Given the description of an element on the screen output the (x, y) to click on. 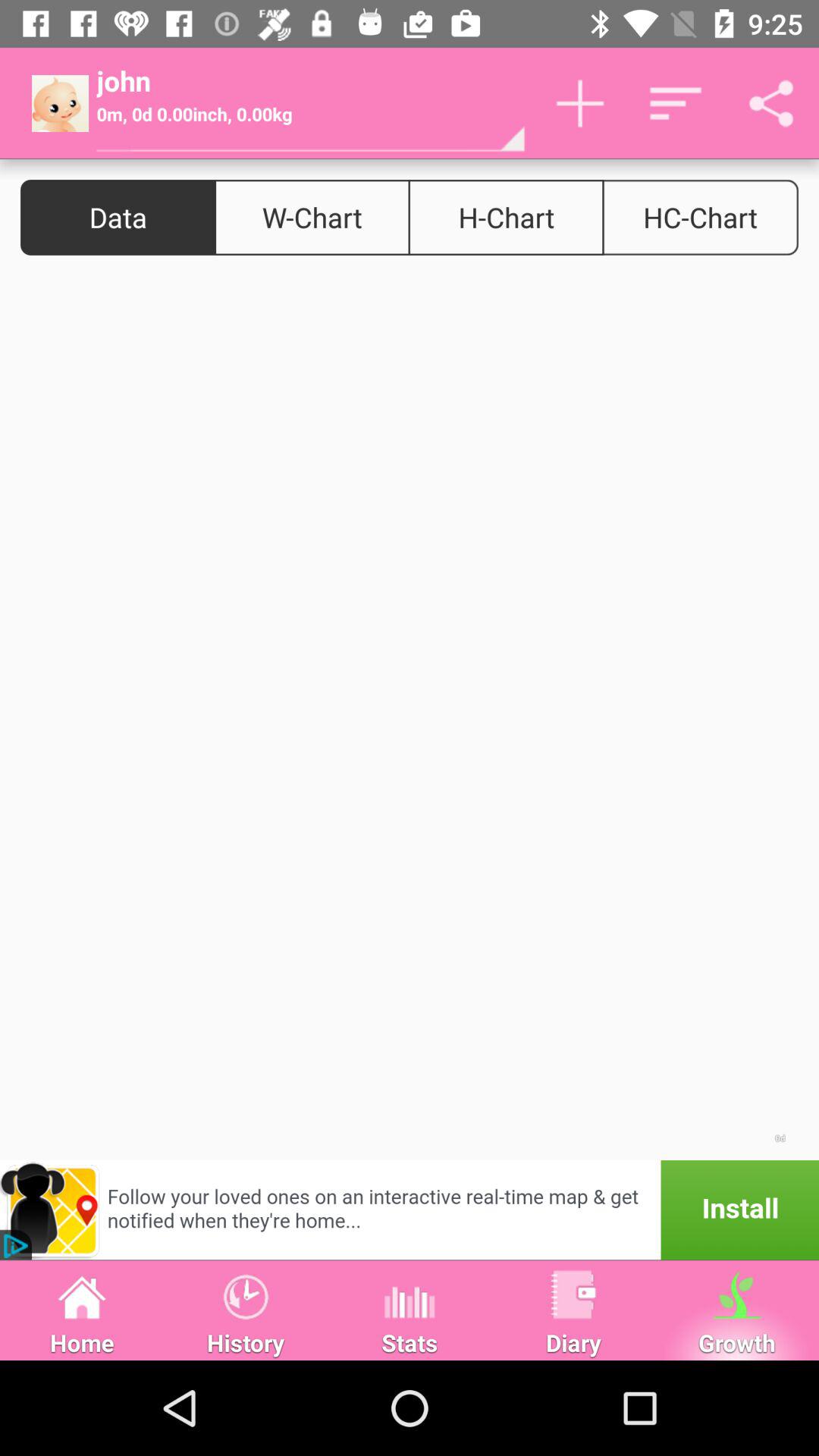
app space (409, 717)
